Given the description of an element on the screen output the (x, y) to click on. 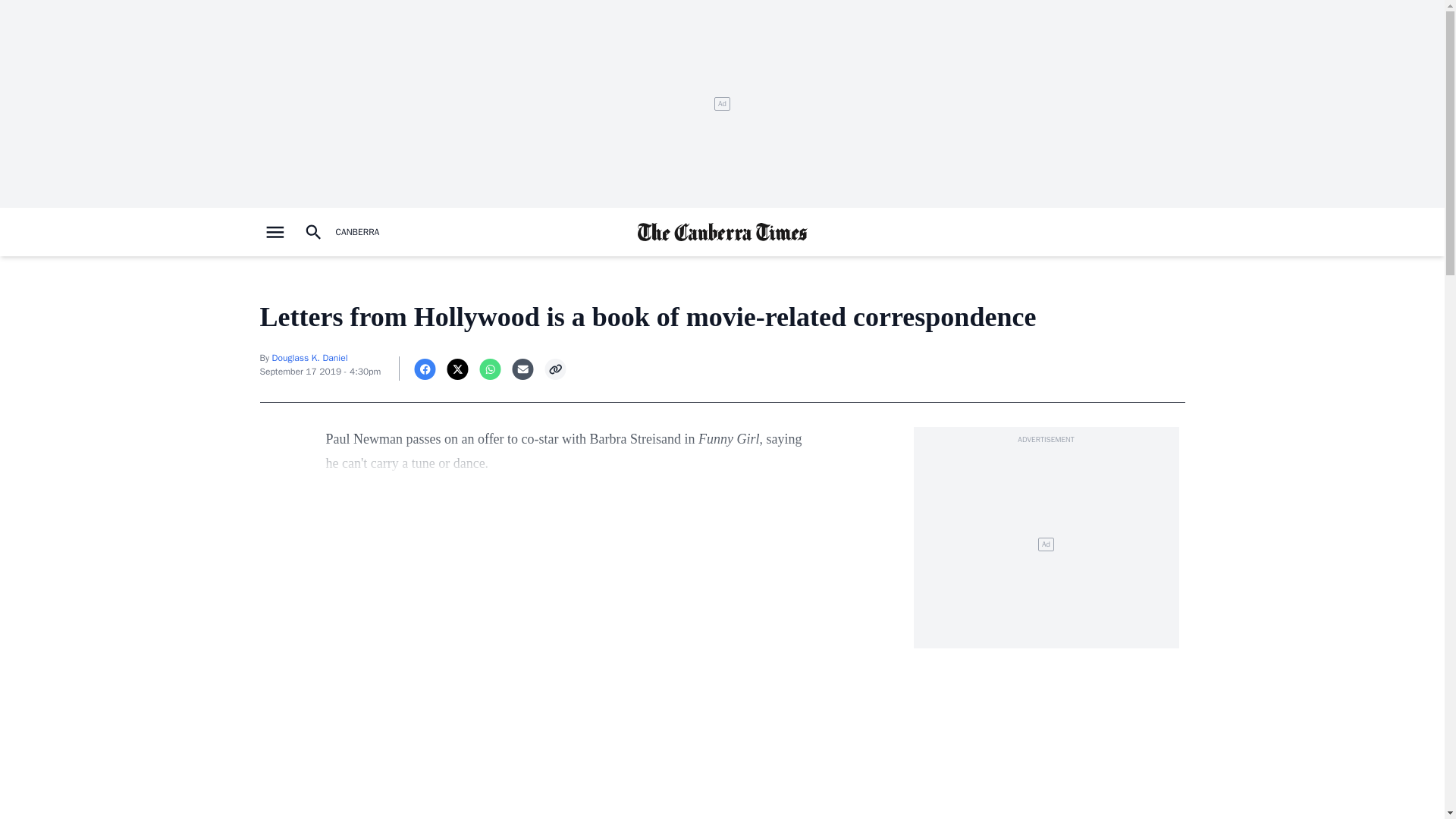
CANBERRA (357, 232)
